Given the description of an element on the screen output the (x, y) to click on. 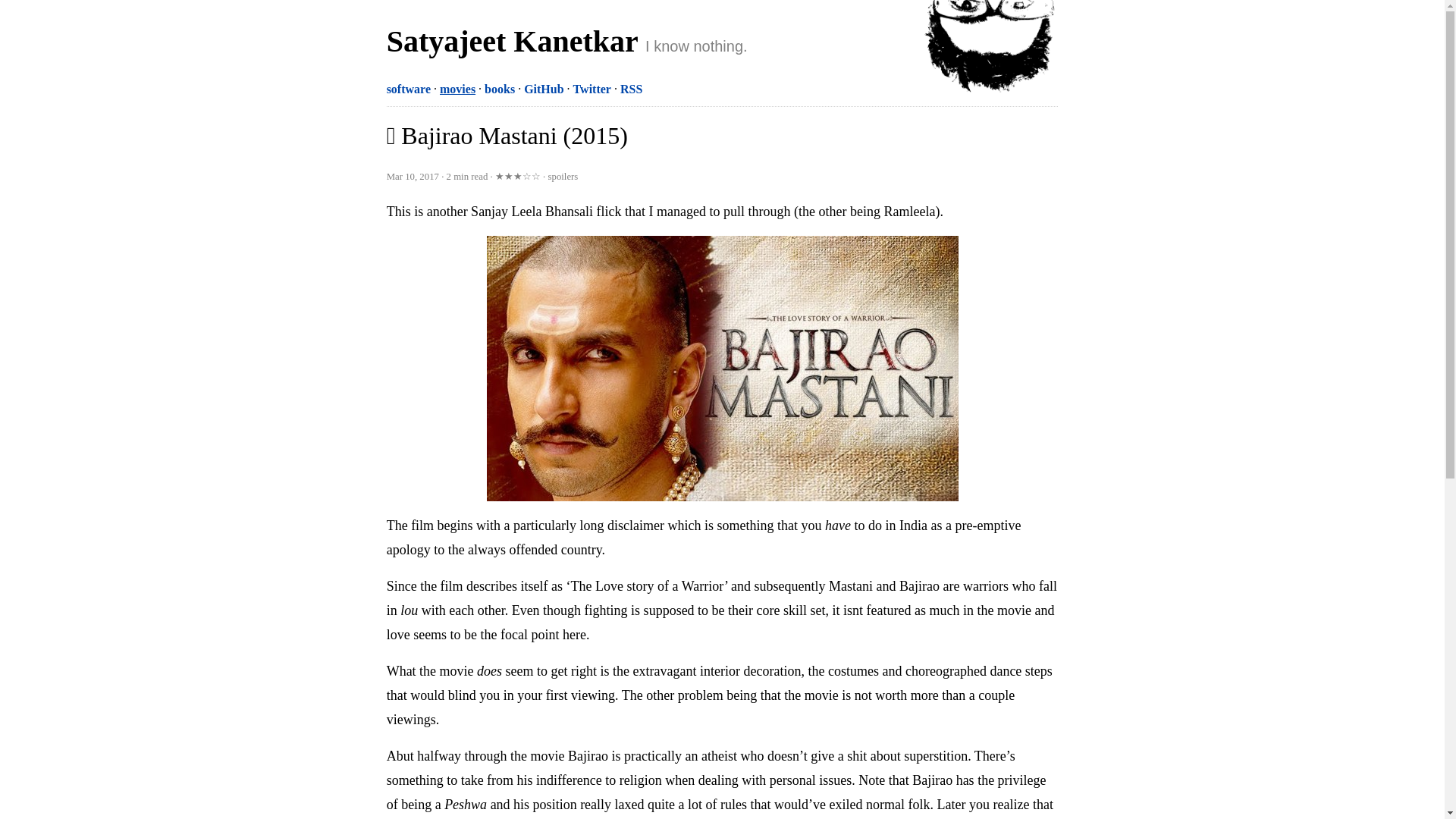
Satyajeet Kanetkar (989, 48)
Satyajeet Kanetkar (512, 41)
Twitter (592, 88)
movies (457, 88)
348 words at 265 WPM (468, 176)
RSS (631, 88)
books (499, 88)
software (408, 88)
GitHub (543, 88)
